Given the description of an element on the screen output the (x, y) to click on. 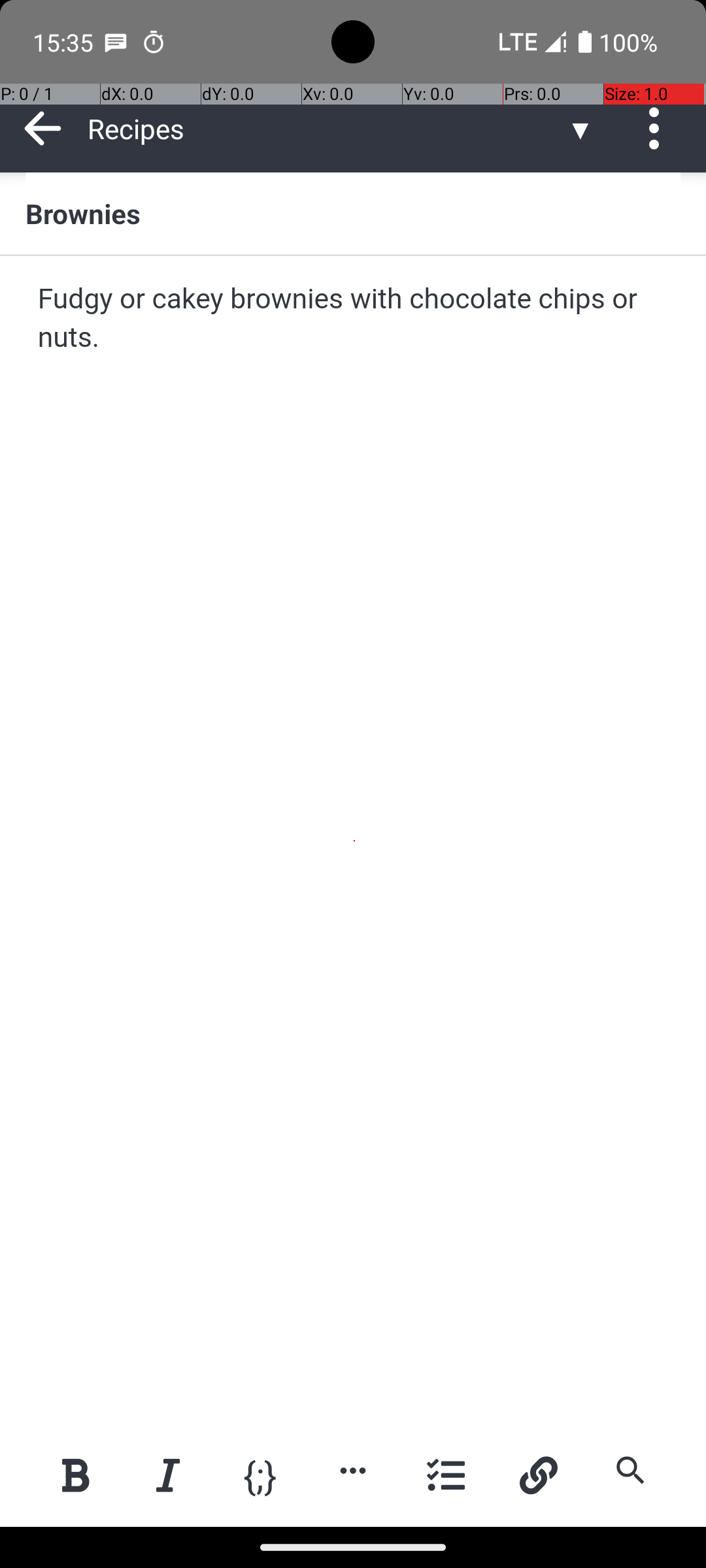
Brownies Element type: android.widget.EditText (352, 213)
Fudgy or cakey brownies with chocolate chips or nuts. Element type: android.widget.EditText (354, 318)
